Given the description of an element on the screen output the (x, y) to click on. 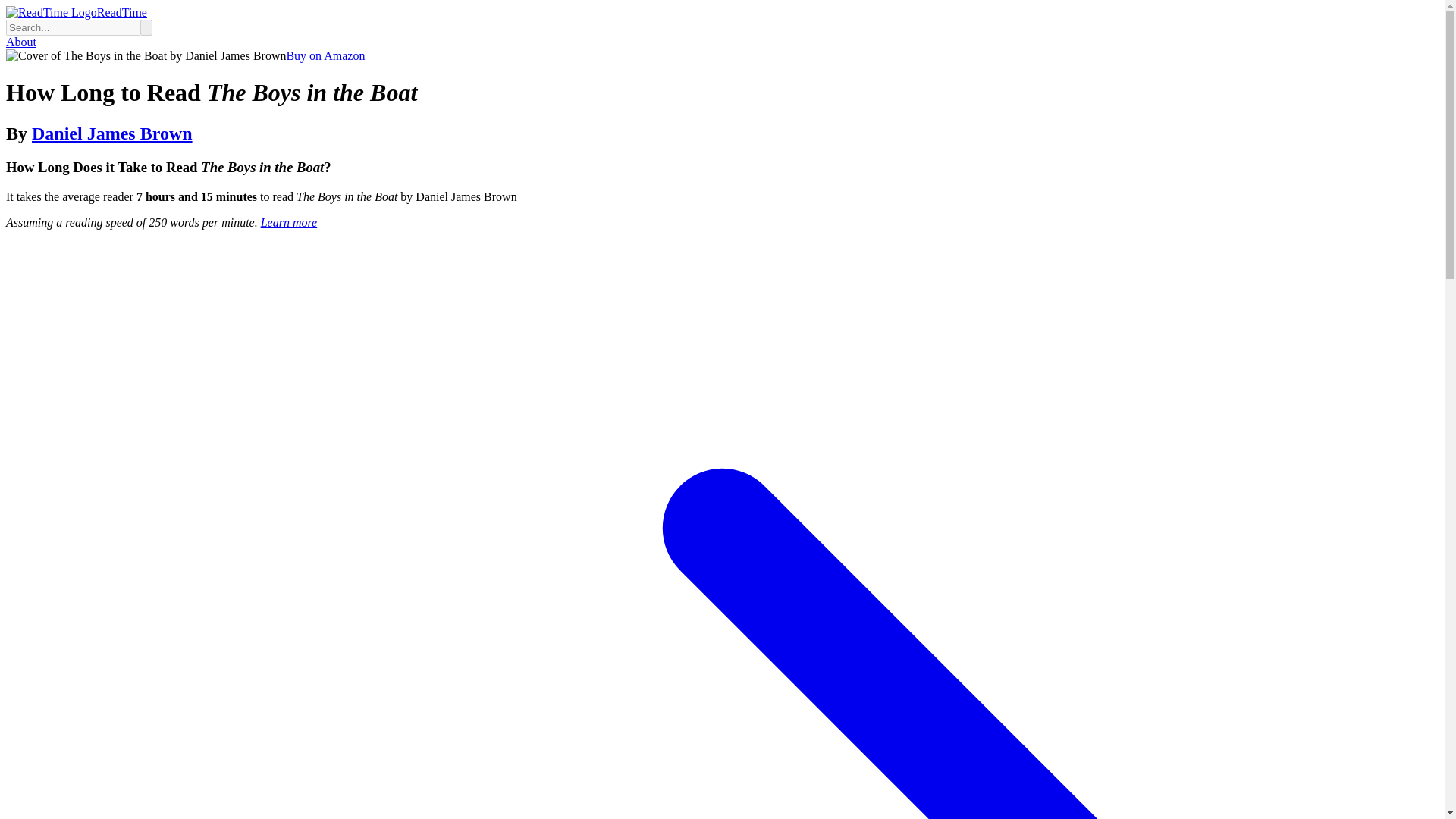
Buy on Amazon (325, 55)
About (20, 42)
Daniel James Brown (112, 133)
ReadTime (76, 11)
